Given the description of an element on the screen output the (x, y) to click on. 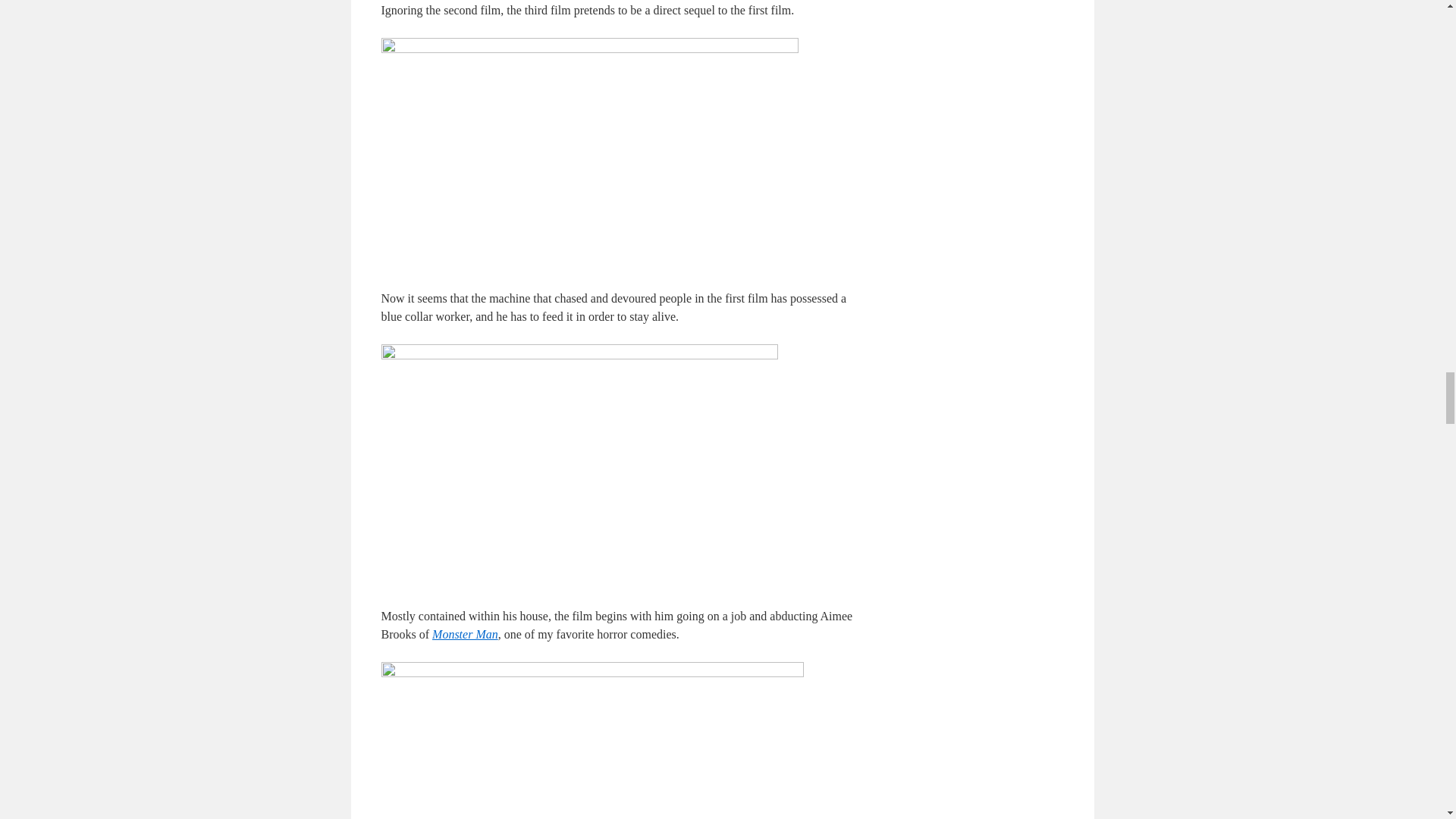
Monster Man (464, 634)
